Given the description of an element on the screen output the (x, y) to click on. 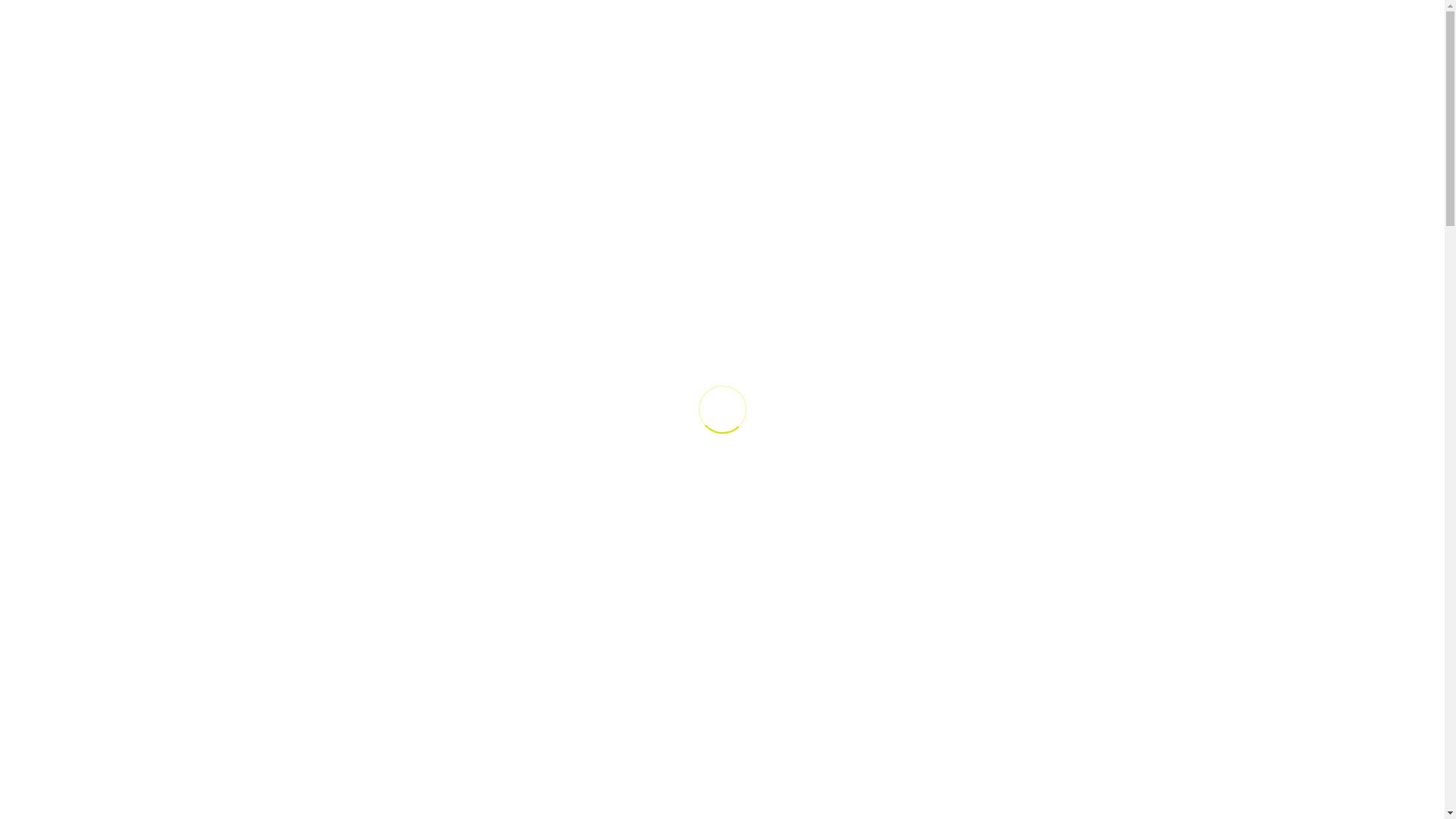
CONTACT Element type: text (1083, 87)
Pinterest Element type: hover (1140, 14)
SERVICES Element type: text (718, 87)
03 9800 0001 Element type: text (988, 15)
BLOG Element type: text (1014, 87)
Project Dates Element type: text (1032, 466)
Facebook Element type: hover (1058, 14)
Behance Element type: hover (1112, 14)
HOME Element type: text (573, 87)
TESTIMONIALS Element type: text (930, 87)
ABOUT Element type: text (635, 87)
Client Industry Element type: text (1032, 380)
OUR WORK Element type: text (821, 87)
Similar Projects Element type: text (1032, 510)
Client Requirements Element type: text (1032, 423)
